Given the description of an element on the screen output the (x, y) to click on. 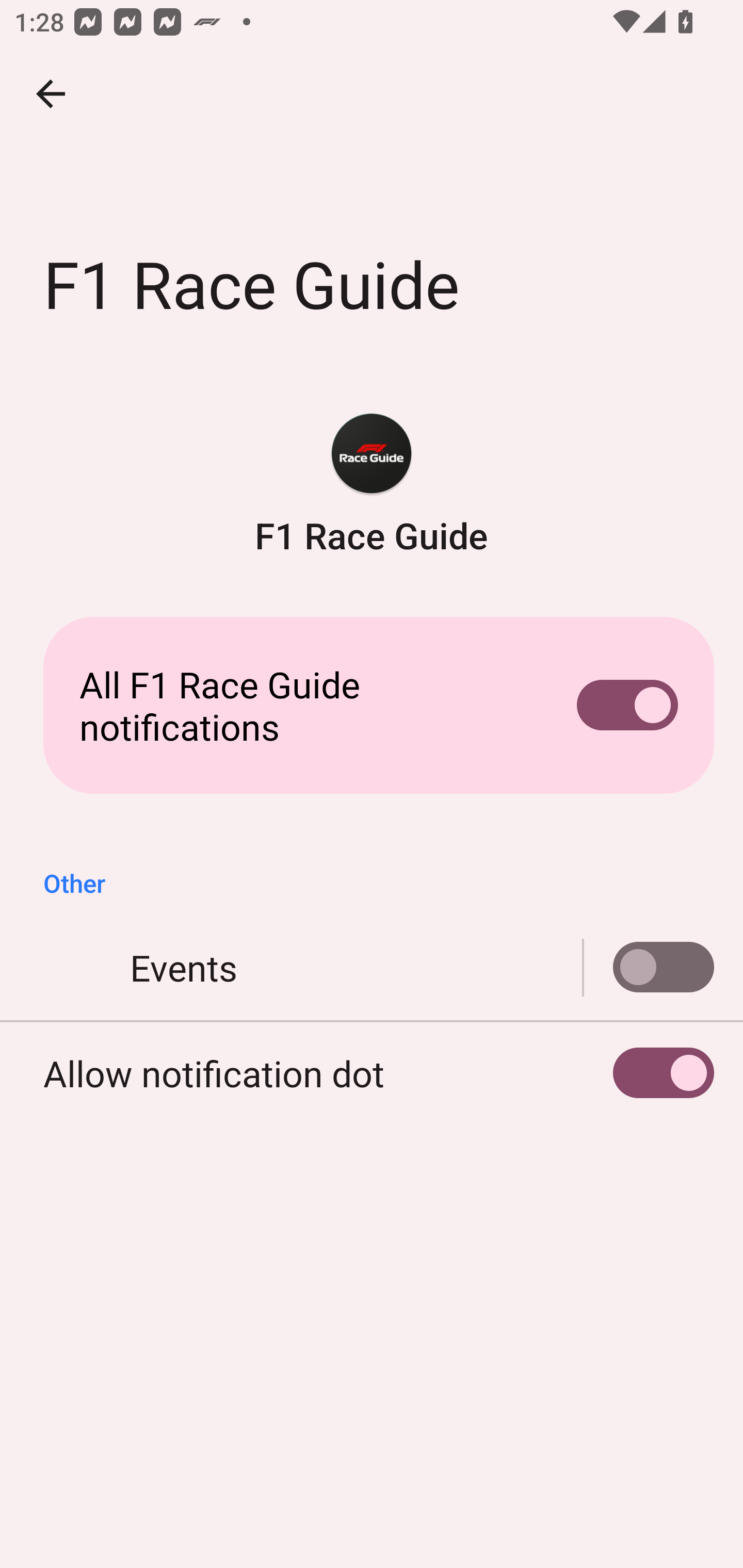
Navigate up (50, 93)
F1 Race Guide (371, 484)
All F1 Race Guide notifications (371, 705)
Events (371, 967)
Events (648, 967)
Allow notification dot (371, 1072)
